Given the description of an element on the screen output the (x, y) to click on. 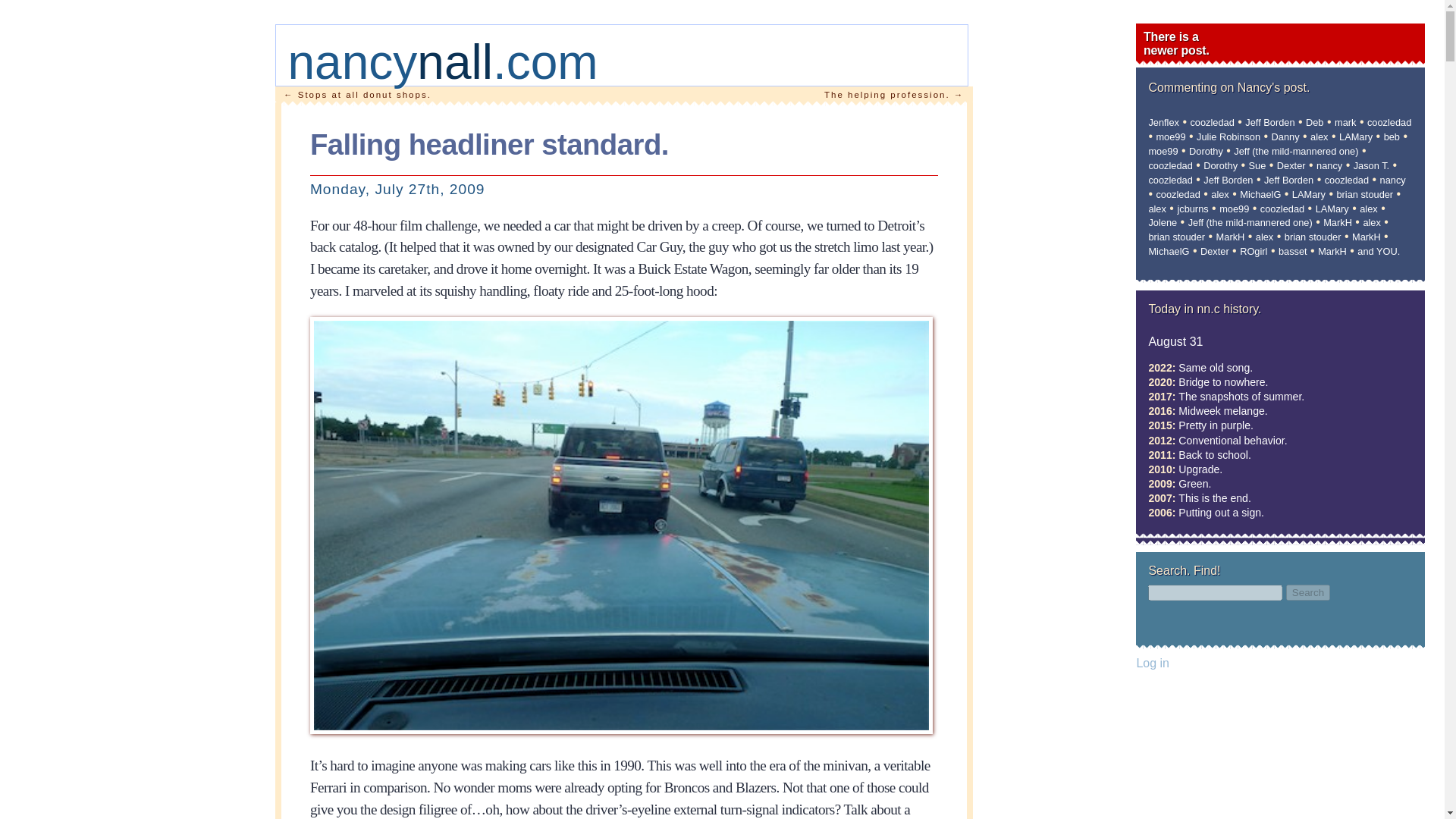
mark (1345, 122)
Jeff Borden (1269, 122)
16 (1170, 165)
13 (1162, 151)
8 (1228, 136)
Falling headliner standard. (489, 151)
7 (1170, 136)
12 (1391, 136)
6 (1388, 122)
